Given the description of an element on the screen output the (x, y) to click on. 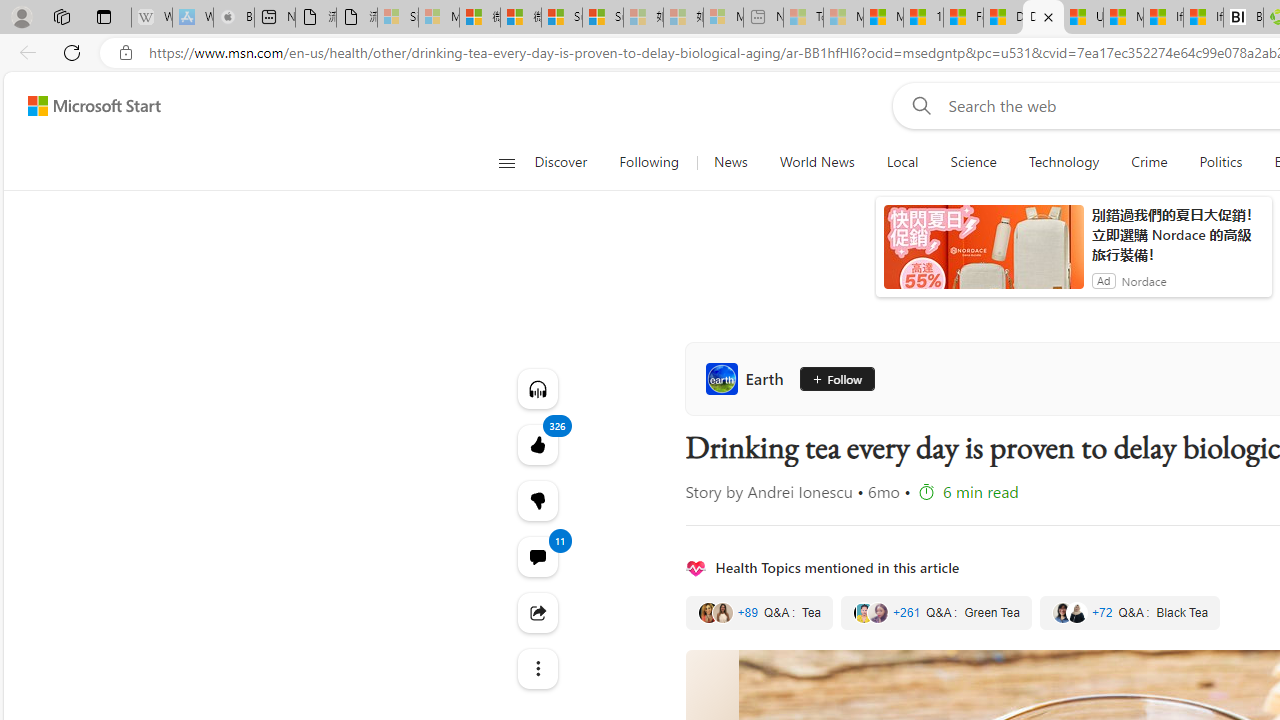
View comments 11 Comment (537, 556)
Personal Profile (21, 16)
Ad (1103, 280)
Tea (759, 613)
Tab actions menu (104, 16)
Science (973, 162)
Class: quote-thumbnail (1076, 612)
Discover (568, 162)
Local (902, 162)
Skip to content (86, 105)
Class: at-item (537, 668)
Microsoft Start (94, 105)
Follow (836, 378)
